Given the description of an element on the screen output the (x, y) to click on. 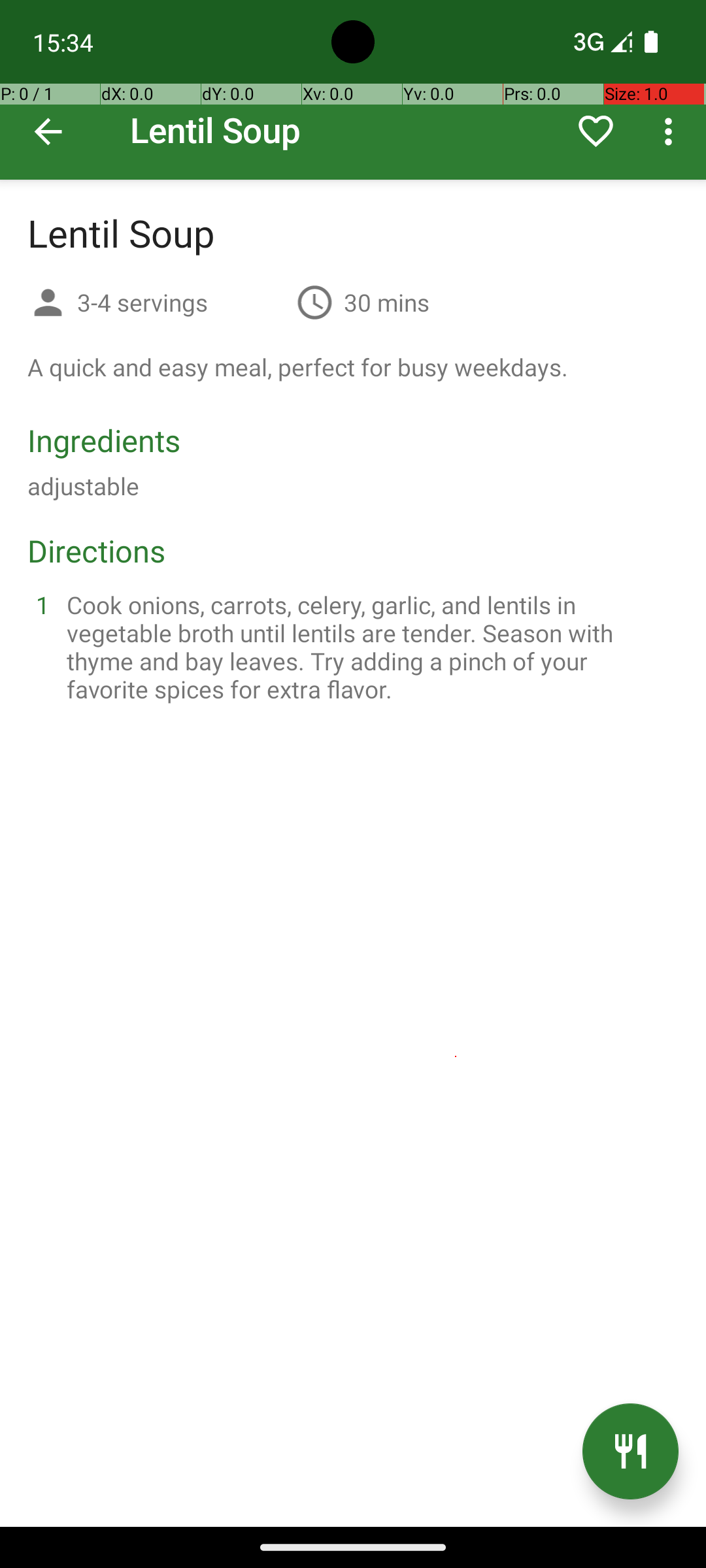
Lentil Soup Element type: android.widget.FrameLayout (353, 89)
3-4 servings Element type: android.widget.TextView (181, 301)
30 mins Element type: android.widget.TextView (386, 301)
adjustable Element type: android.widget.TextView (83, 485)
Cook onions, carrots, celery, garlic, and lentils in vegetable broth until lentils are tender. Season with thyme and bay leaves. Try adding a pinch of your favorite spices for extra flavor. Element type: android.widget.TextView (368, 646)
